Given the description of an element on the screen output the (x, y) to click on. 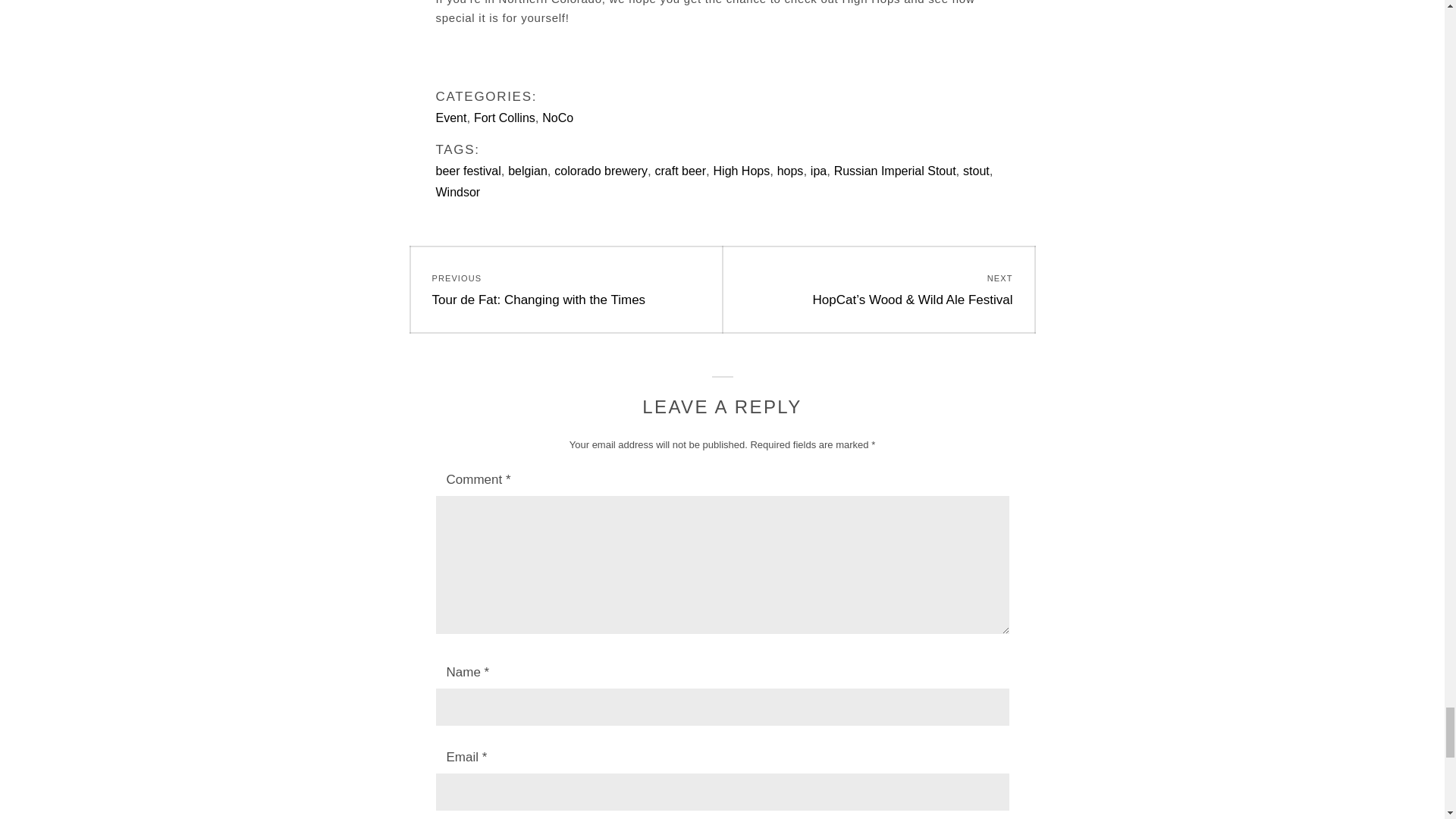
High Hops (741, 170)
beer festival (467, 170)
NoCo (557, 117)
Windsor (566, 289)
hops (457, 192)
craft beer (790, 170)
Fort Collins (679, 170)
stout (504, 117)
colorado brewery (976, 170)
